Given the description of an element on the screen output the (x, y) to click on. 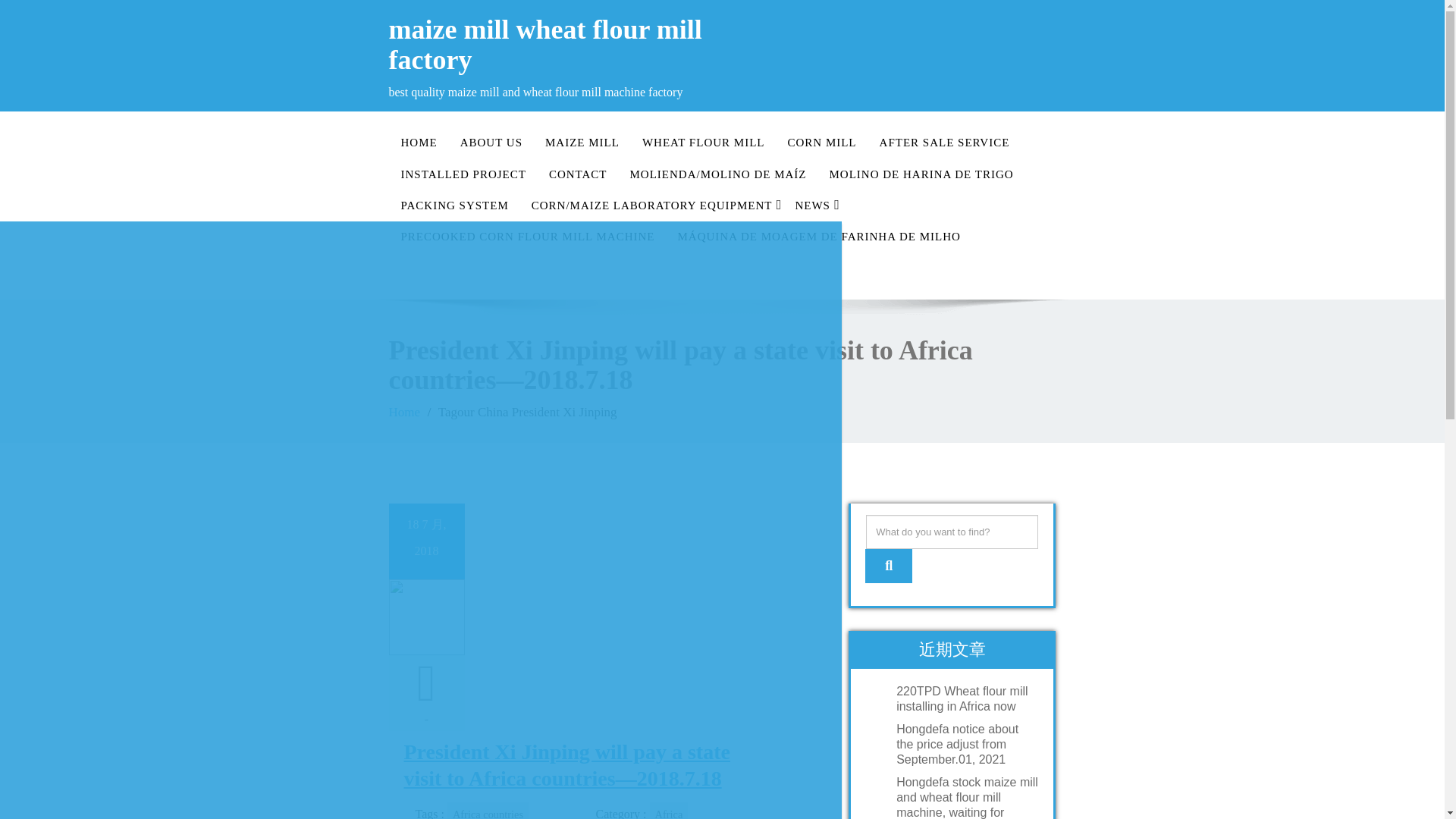
PACKING SYSTEM (454, 205)
OUR TEAM IN KENYA NOW FOR MAIZE WHEAT MILL BUSINESS (420, 308)
MOLINO DE HARINA DE TRIGO (921, 174)
maize mill wheat flour mill factory (549, 45)
NEWS (812, 205)
HOME (419, 142)
WHEAT FLOUR MILL (703, 142)
INSTALLED PROJECT (463, 174)
CONTACT (577, 174)
AFTER SALE SERVICE (944, 142)
PRICE ADJUST NOTICE (420, 274)
CORN MILL (821, 142)
AGRITEC AFRICA INTERNATIONAL EXHIBITION IN KENYA (420, 238)
WHERE DO NIGERIAN BUY 100T CORN GRINDING MILL? (420, 661)
IMPORTANCE OF WATER REGULATION IN WHEAT RAW GRAIN (420, 415)
